Given the description of an element on the screen output the (x, y) to click on. 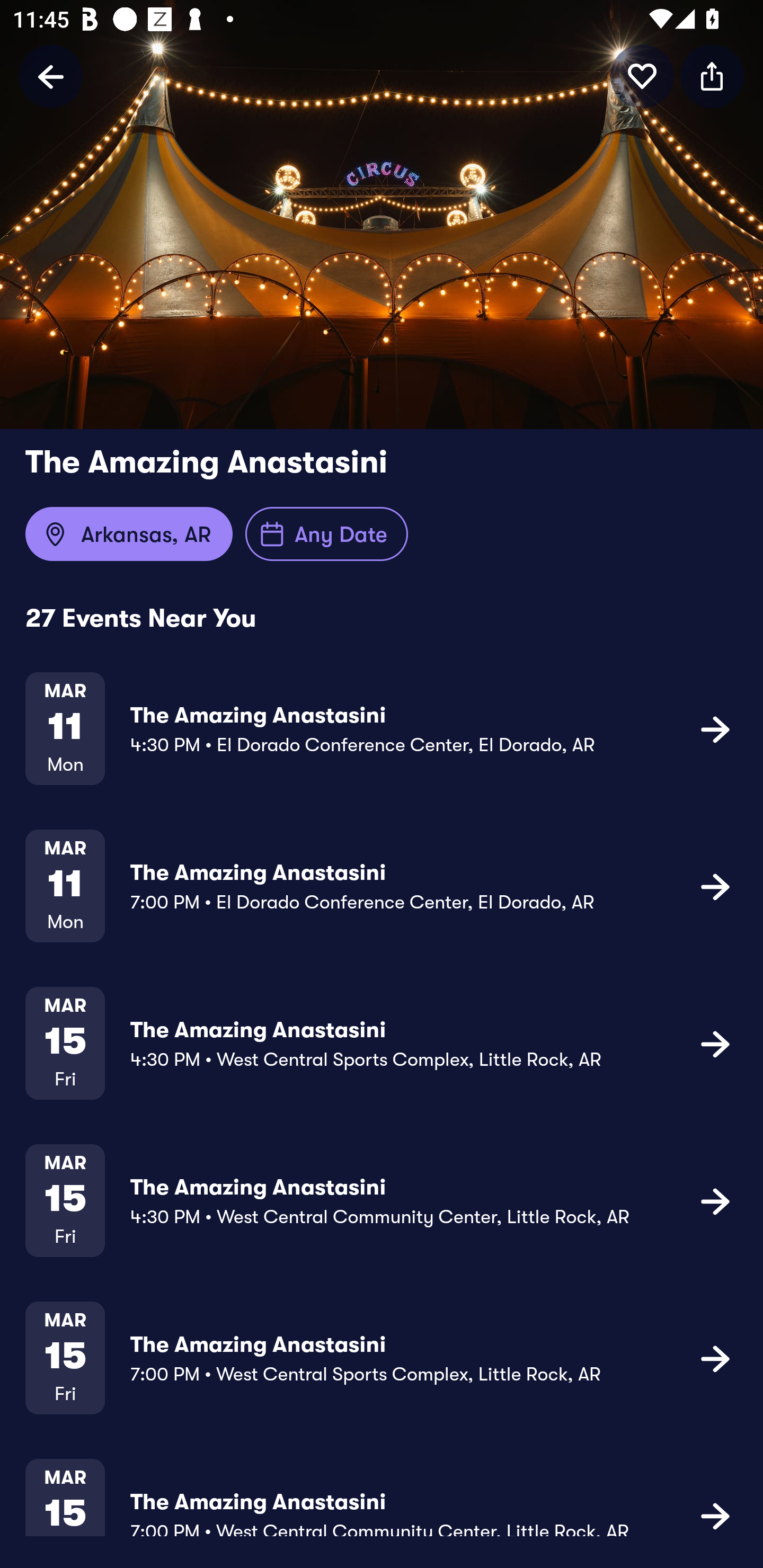
Back (50, 75)
icon button (641, 75)
icon button (711, 75)
Arkansas, AR (128, 533)
Any Date (326, 533)
icon button (714, 729)
icon button (714, 885)
icon button (714, 1043)
icon button (714, 1201)
icon button (714, 1357)
icon button (714, 1514)
